Given the description of an element on the screen output the (x, y) to click on. 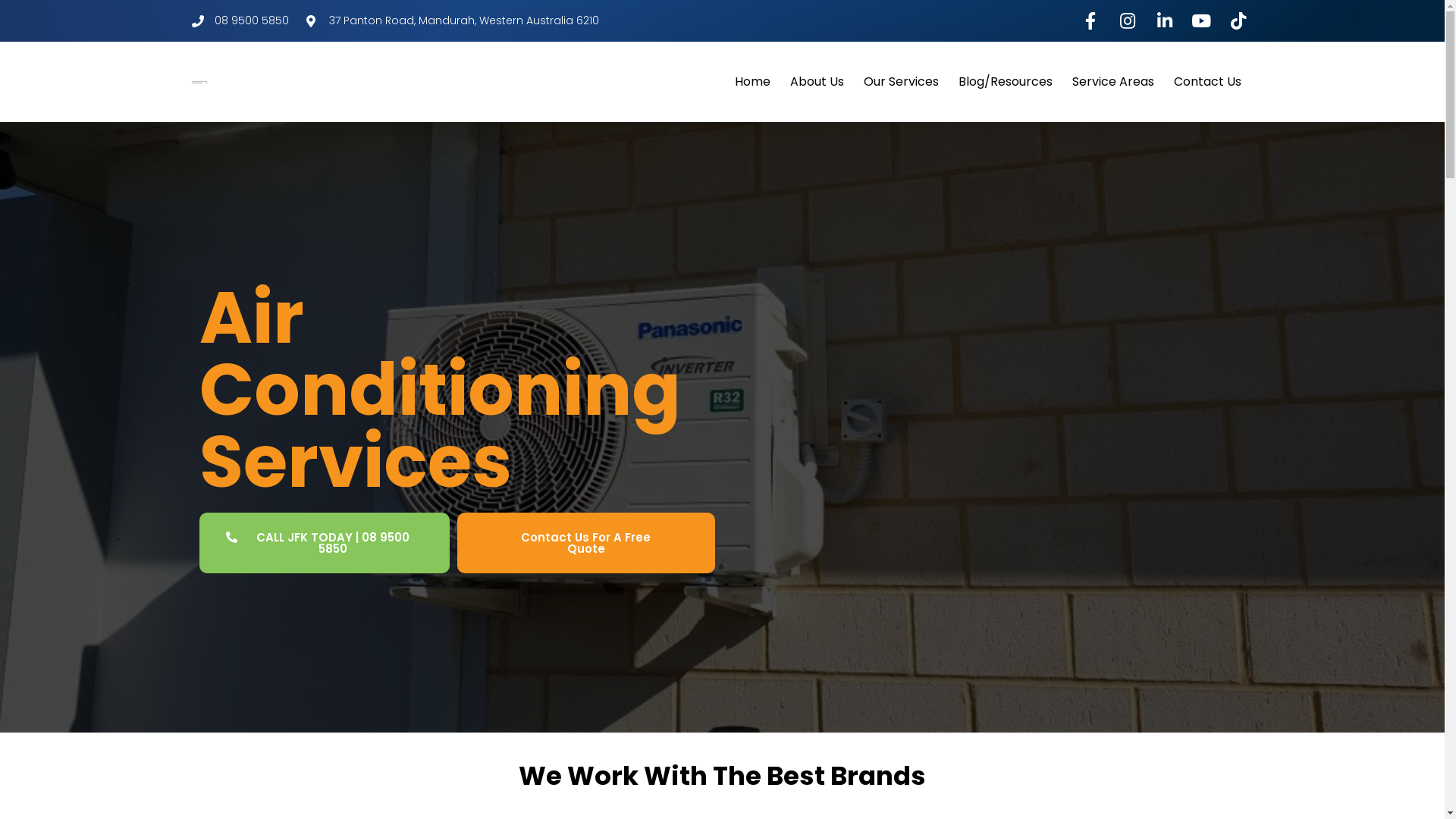
Service Areas Element type: text (1113, 81)
Home Element type: text (751, 81)
About Us Element type: text (817, 81)
Blog/Resources Element type: text (1005, 81)
Our Services Element type: text (900, 81)
37 Panton Road, Mandurah, Western Australia 6210 Element type: text (452, 20)
Contact Us For A Free Quote Element type: text (585, 542)
Contact Us Element type: text (1207, 81)
08 9500 5850 Element type: text (239, 20)
CALL JFK TODAY | 08 9500 5850 Element type: text (323, 542)
